Given the description of an element on the screen output the (x, y) to click on. 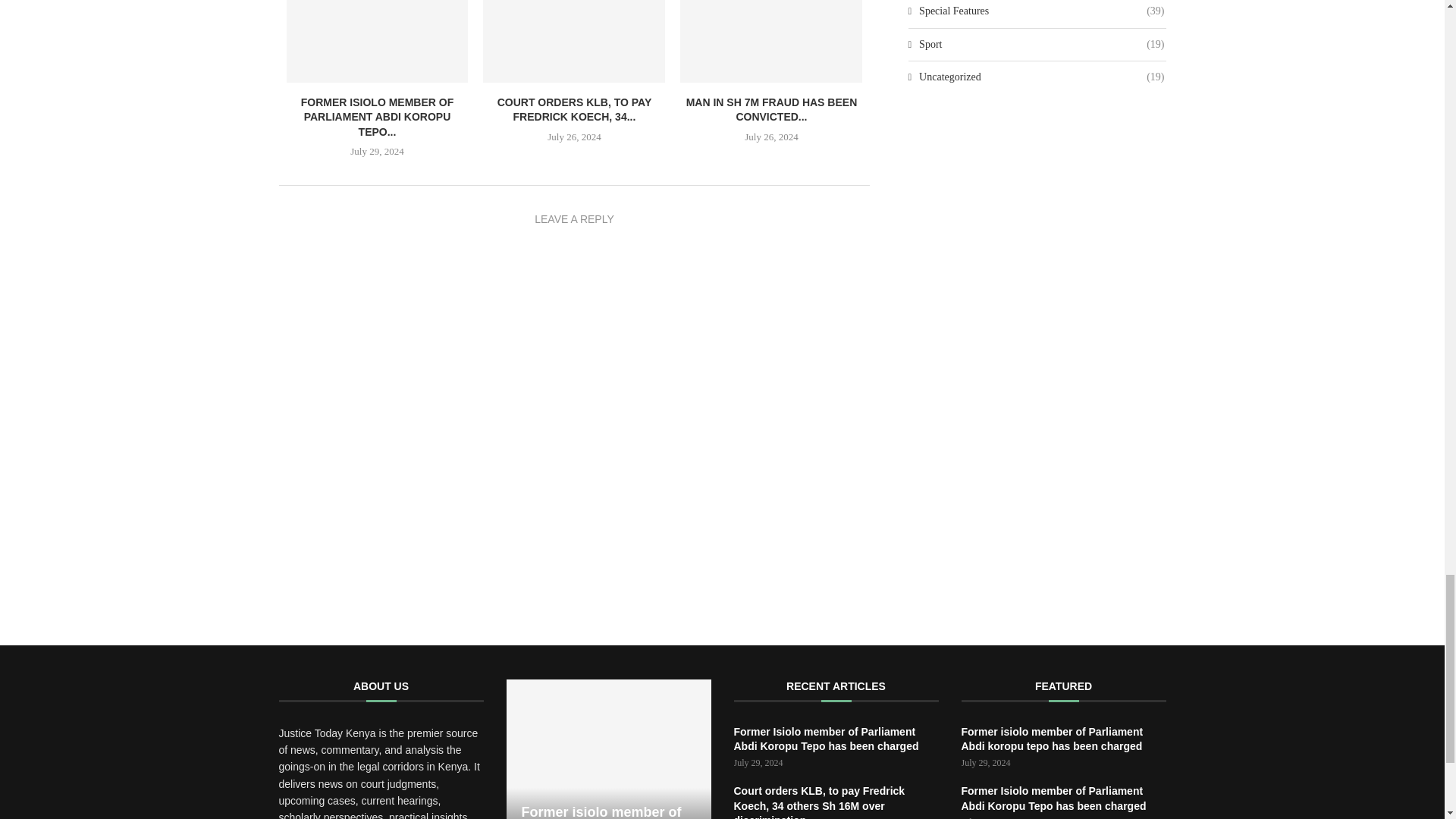
Man in Sh 7M fraud has been convicted by the court. (770, 41)
